Given the description of an element on the screen output the (x, y) to click on. 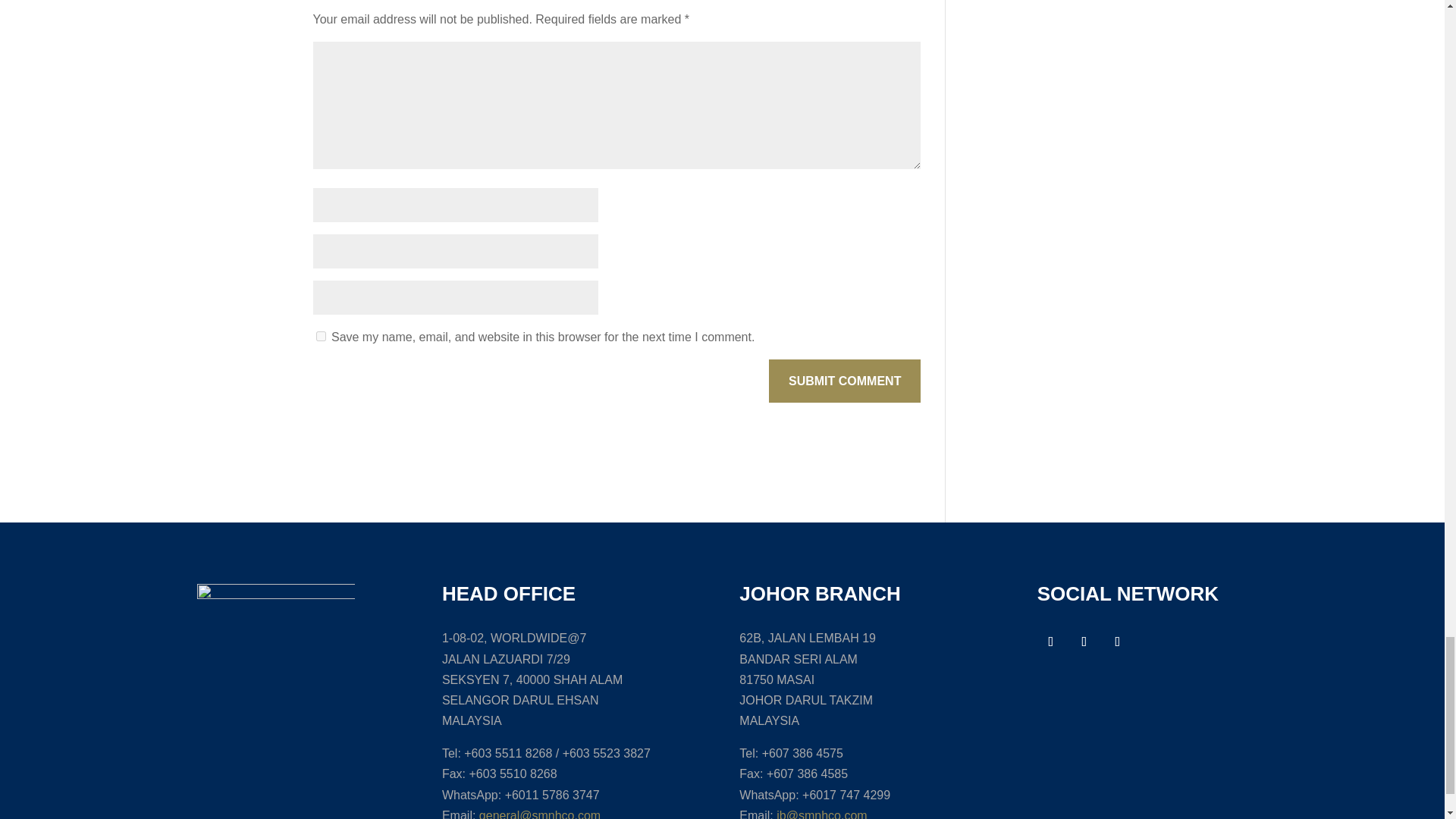
Follow on Twitter (1083, 641)
SMNHCOWhite250px (275, 642)
Submit Comment (844, 380)
yes (319, 336)
Follow on Facebook (1050, 641)
Submit Comment (844, 380)
Follow on Instagram (1117, 641)
